Given the description of an element on the screen output the (x, y) to click on. 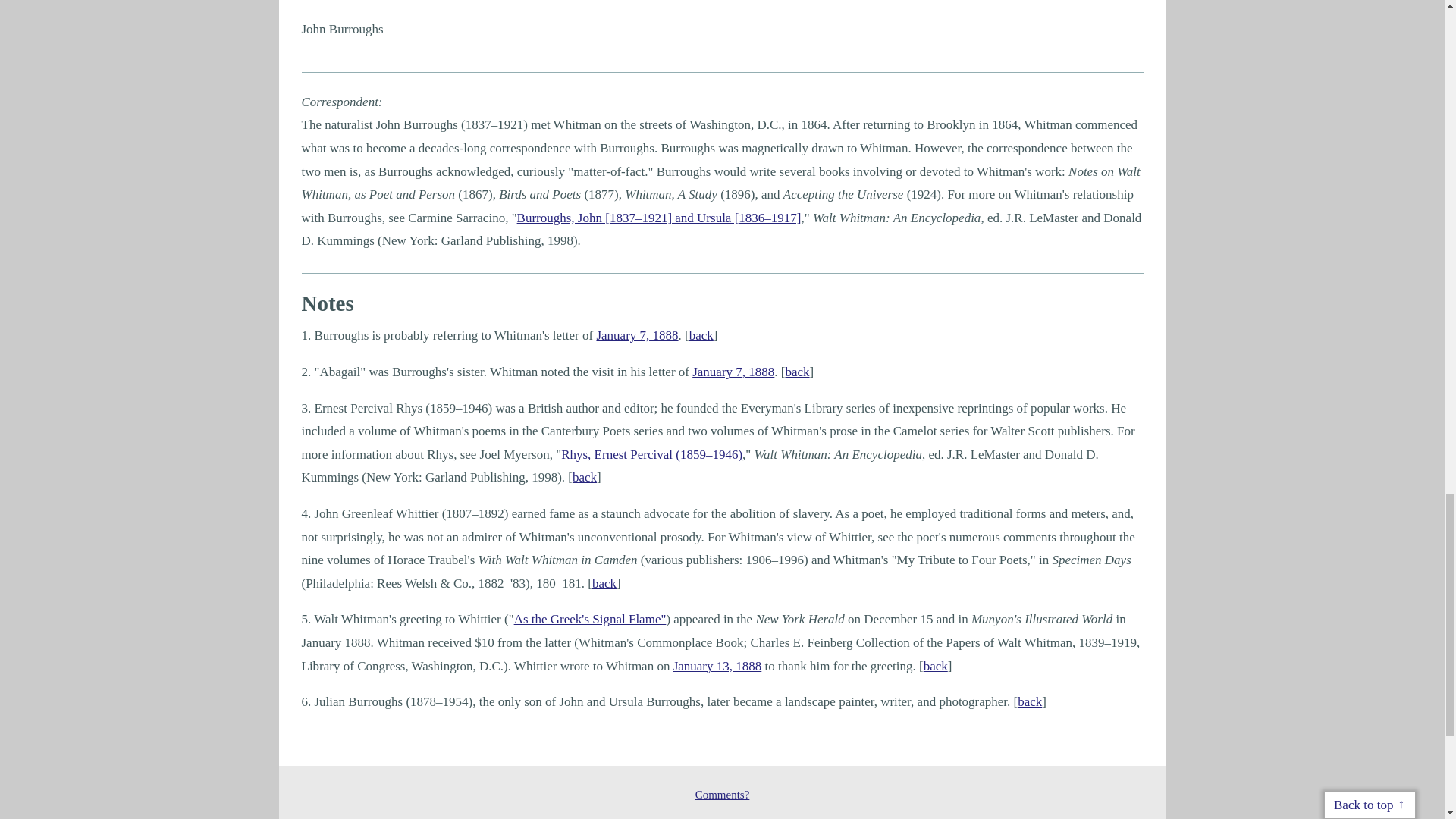
back (700, 335)
January 13, 1888 (716, 666)
January 7, 1888 (733, 371)
back (935, 666)
back (603, 583)
As the Greek's Signal Flame" (589, 618)
January 7, 1888 (636, 335)
back (584, 477)
back (797, 371)
